Given the description of an element on the screen output the (x, y) to click on. 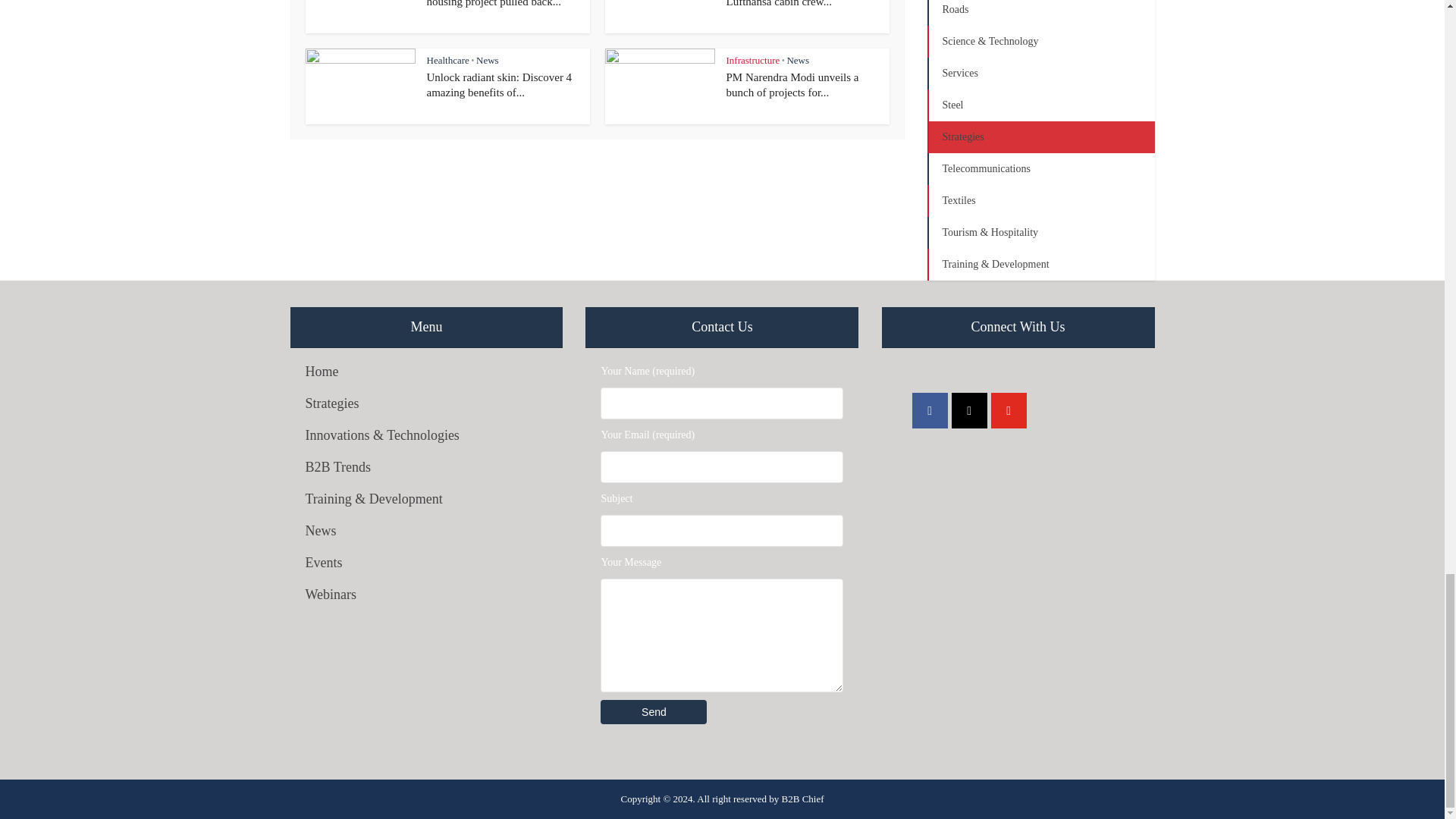
Instagram (969, 410)
YouTube (1008, 410)
Send (652, 711)
Facebook (929, 410)
